Given the description of an element on the screen output the (x, y) to click on. 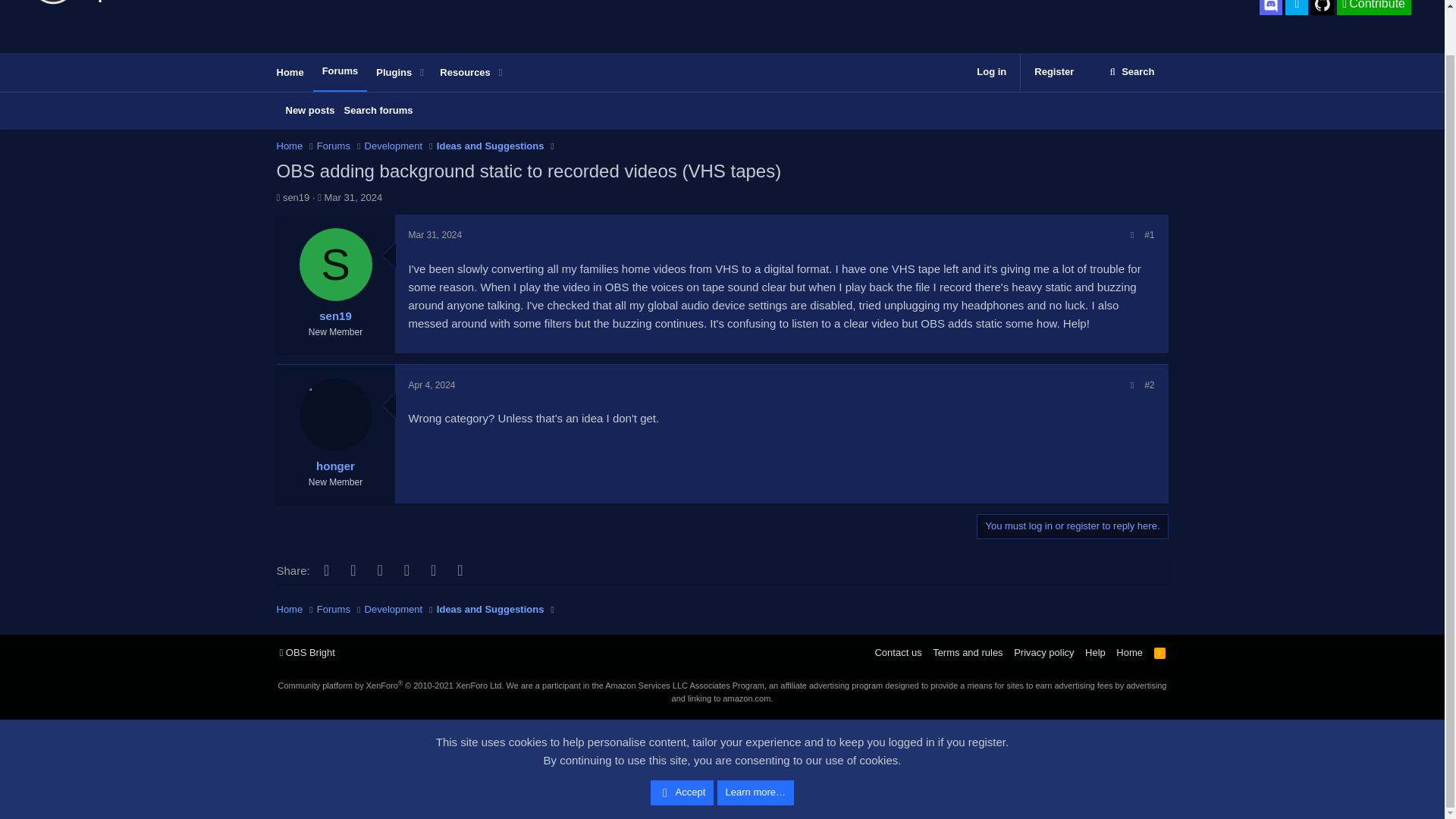
Forums (333, 145)
Register (1053, 72)
RSS (1160, 652)
Mar 31, 2024 at 7:40 PM (353, 197)
Apr 4, 2024 at 10:19 AM (430, 385)
Search forums (378, 110)
Search (1131, 72)
Forums (340, 71)
Mar 31, 2024 at 7:40 PM (434, 235)
Contribute (387, 89)
Log in (1373, 7)
New posts (991, 72)
Home (310, 110)
